Given the description of an element on the screen output the (x, y) to click on. 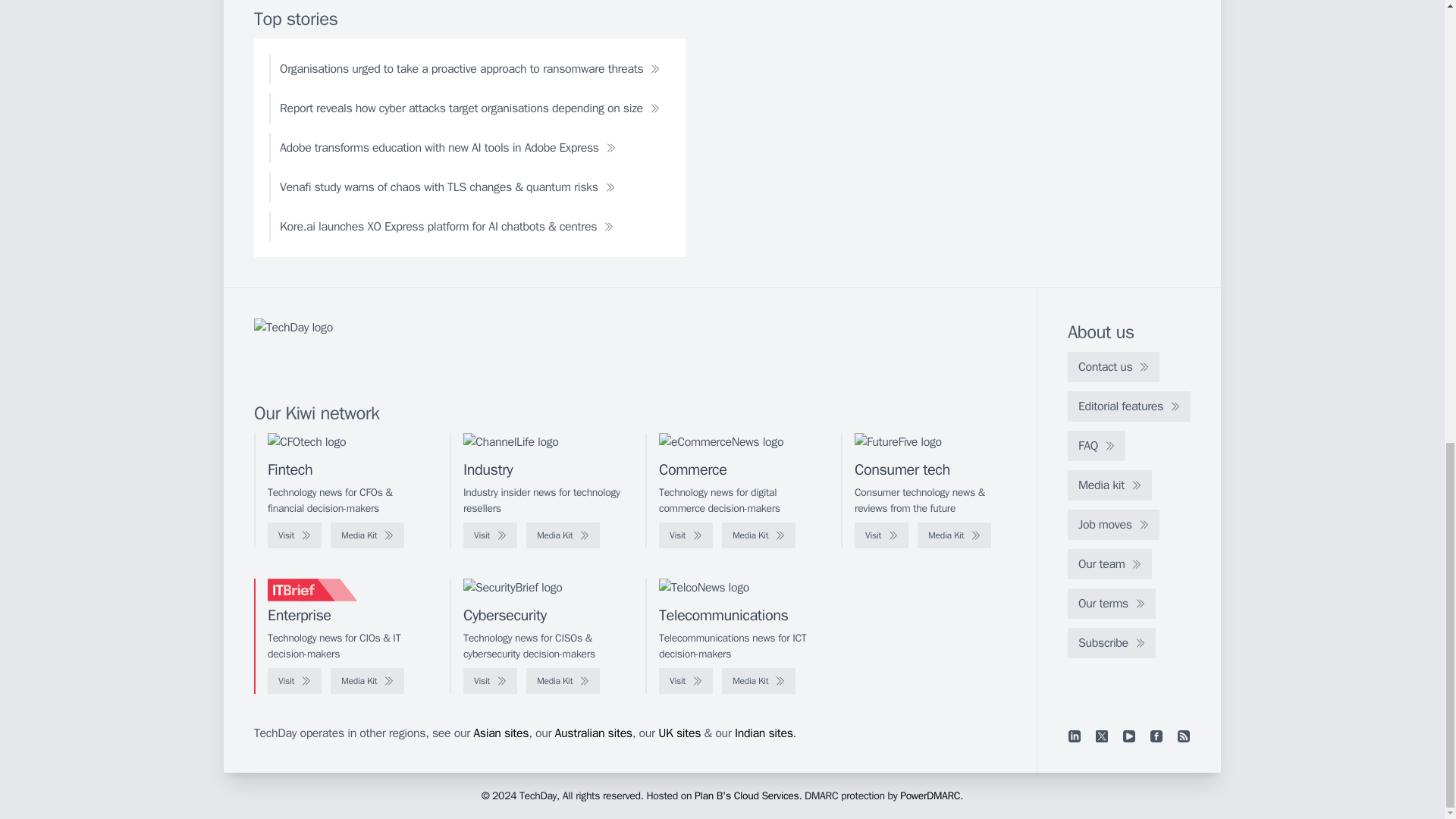
Media Kit (367, 534)
Visit (489, 534)
Visit (686, 534)
Visit (881, 534)
Visit (294, 534)
Media Kit (562, 534)
Media Kit (954, 534)
Media Kit (758, 534)
